Given the description of an element on the screen output the (x, y) to click on. 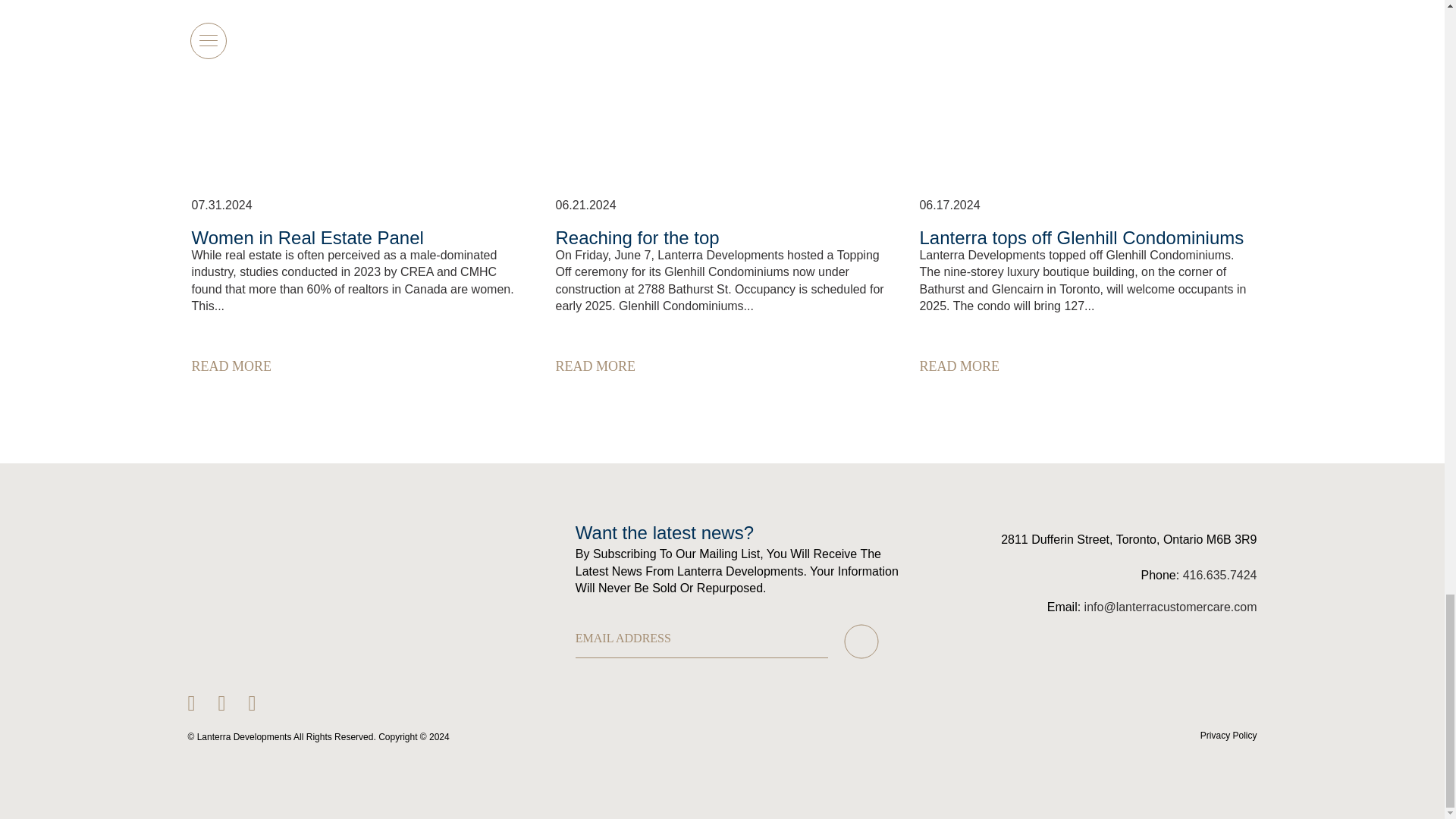
READ MORE (258, 365)
